Given the description of an element on the screen output the (x, y) to click on. 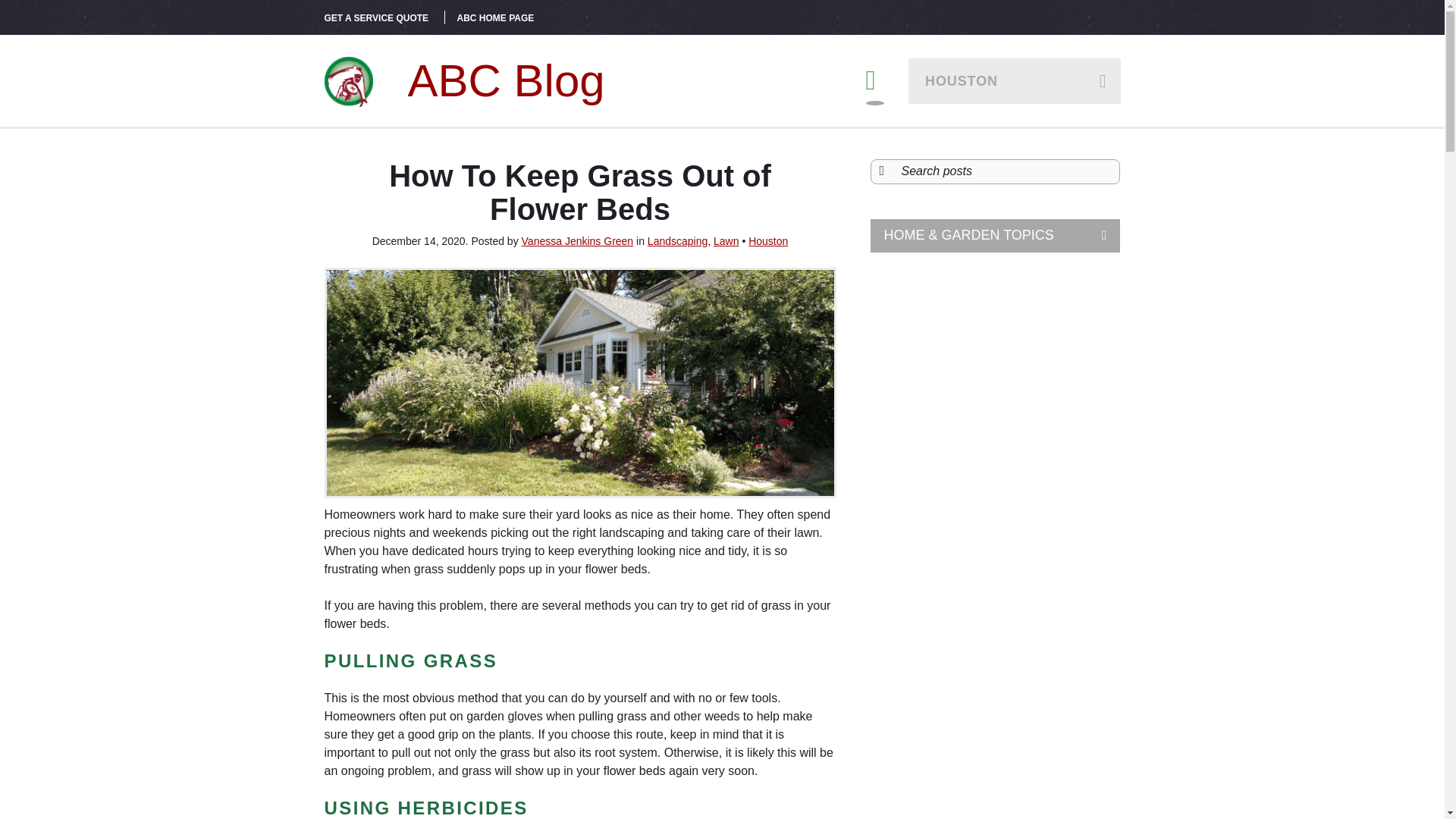
Vanessa Jenkins Green (577, 241)
ABC HOME PAGE (495, 18)
Lawn (725, 241)
Houston (767, 241)
Landscaping (677, 241)
GET A SERVICE QUOTE (376, 18)
HOUSTON (1014, 81)
ABC Blog (464, 80)
